Given the description of an element on the screen output the (x, y) to click on. 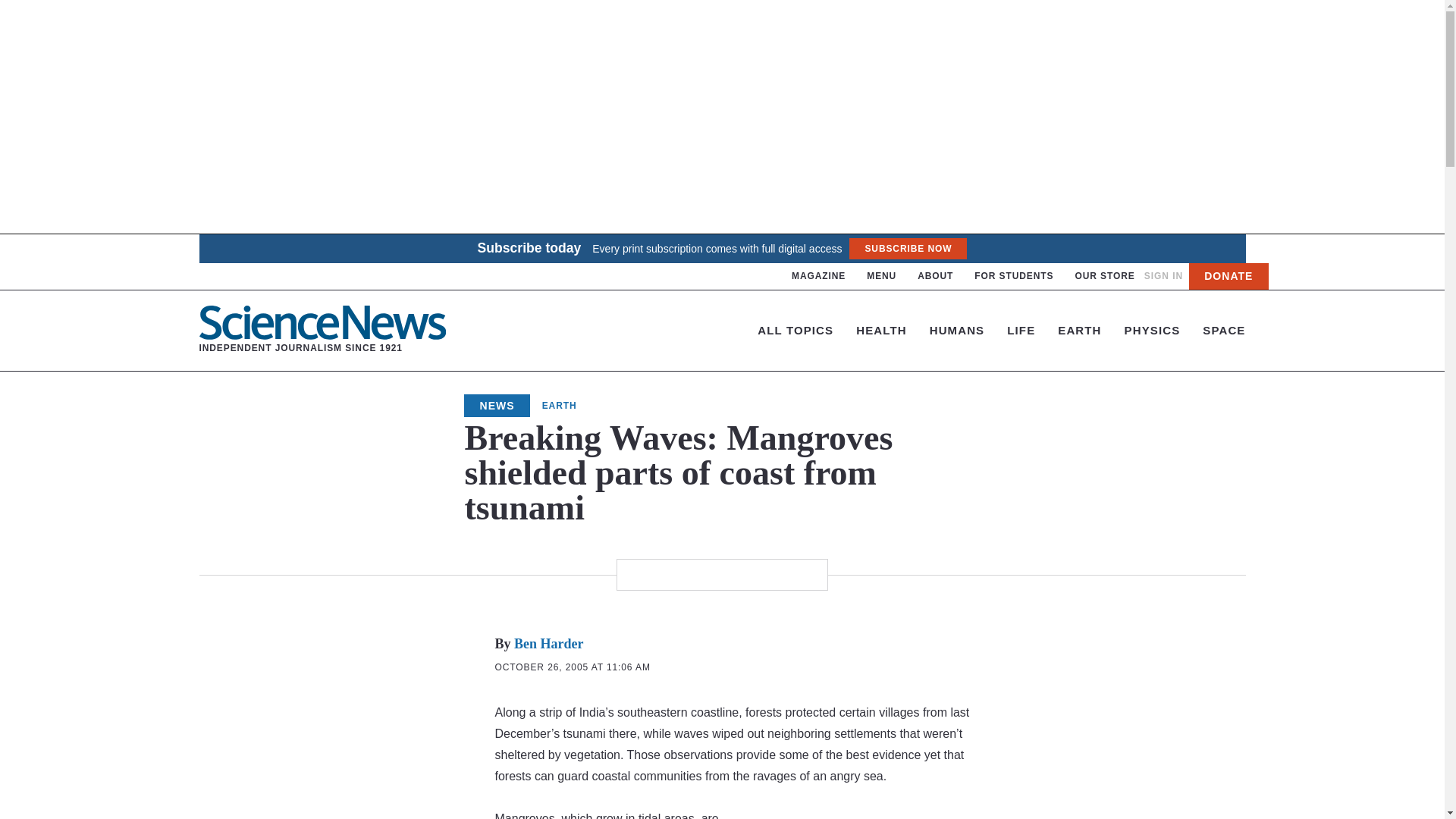
MAGAZINE (818, 275)
MENU (321, 330)
ABOUT (881, 275)
FOR STUDENTS (935, 275)
SUBSCRIBE NOW (1013, 275)
SIGN IN (907, 248)
OUR STORE (1163, 275)
DONATE (1104, 275)
Share via email (1228, 275)
